Given the description of an element on the screen output the (x, y) to click on. 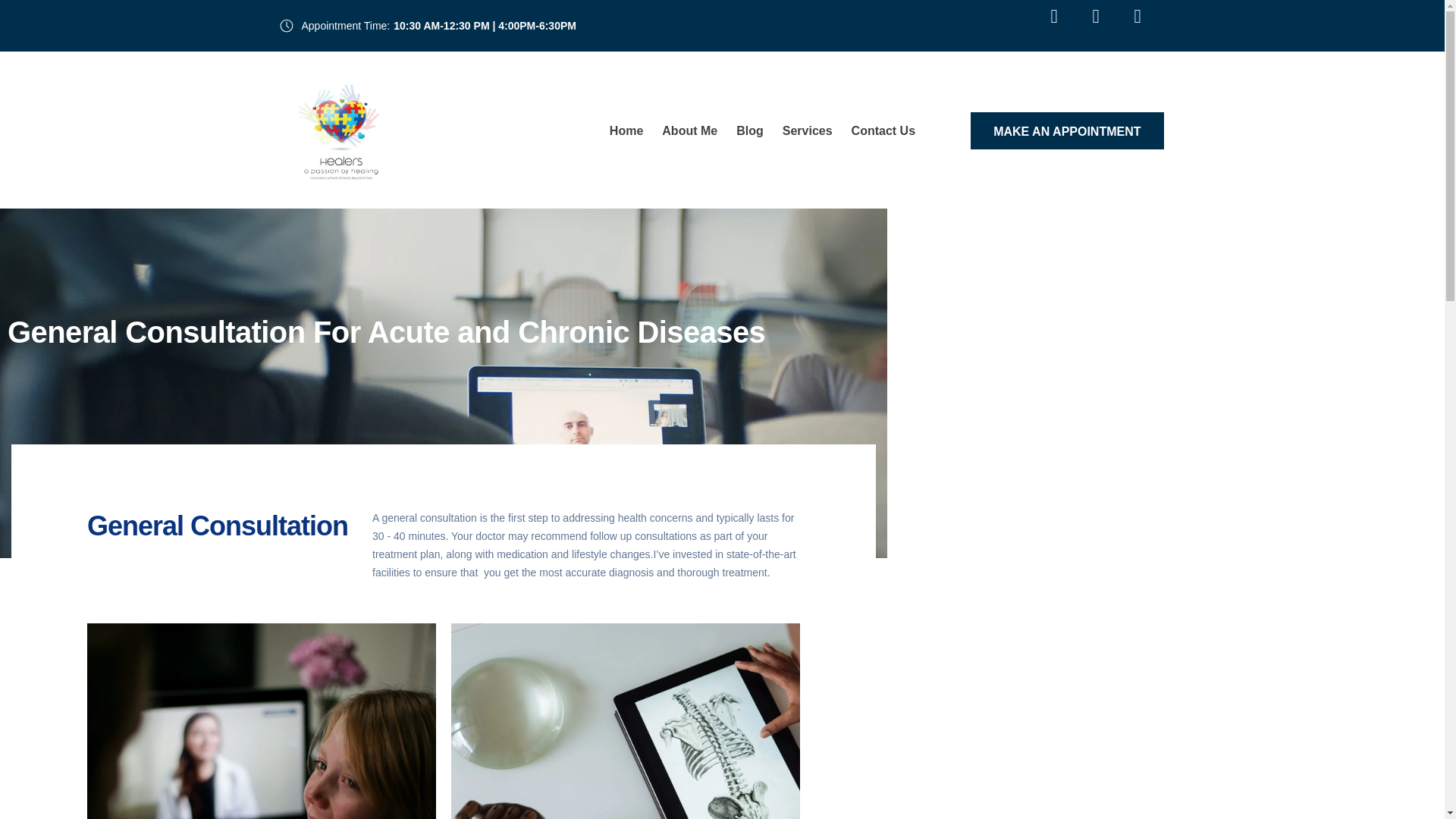
MAKE AN APPOINTMENT (1067, 130)
Services (807, 130)
Blog (749, 130)
About Me (689, 130)
Contact Us (883, 130)
Home (626, 130)
